Given the description of an element on the screen output the (x, y) to click on. 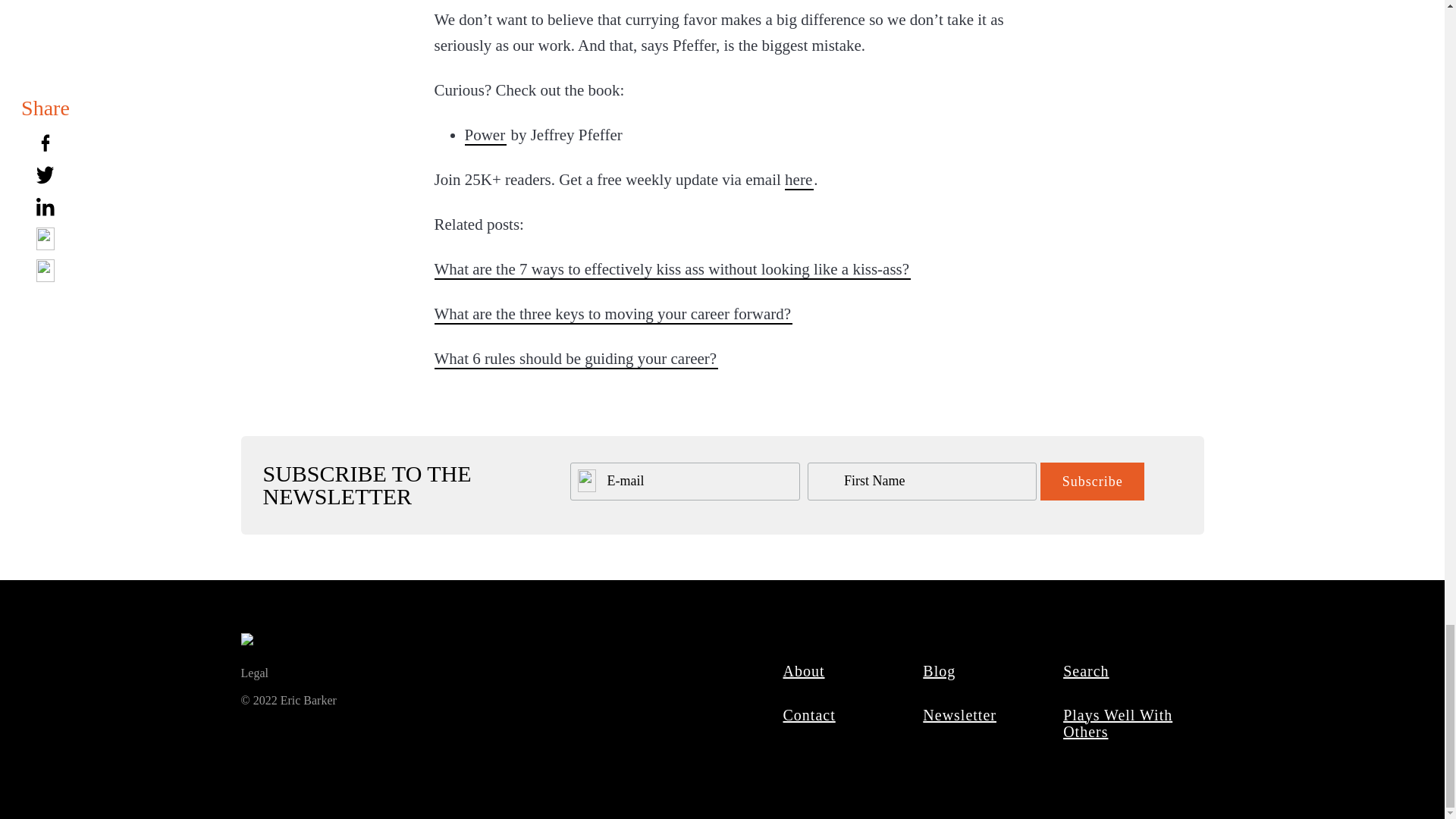
Plays Well With Others (1117, 723)
Permalink (575, 358)
What 6 rules should be guiding your career? (575, 358)
Subscribe (1092, 481)
Search (1085, 669)
About (804, 669)
Power (485, 134)
What are the three keys to moving your career forward? (612, 313)
Subscribe (1092, 481)
Permalink (612, 313)
